Given the description of an element on the screen output the (x, y) to click on. 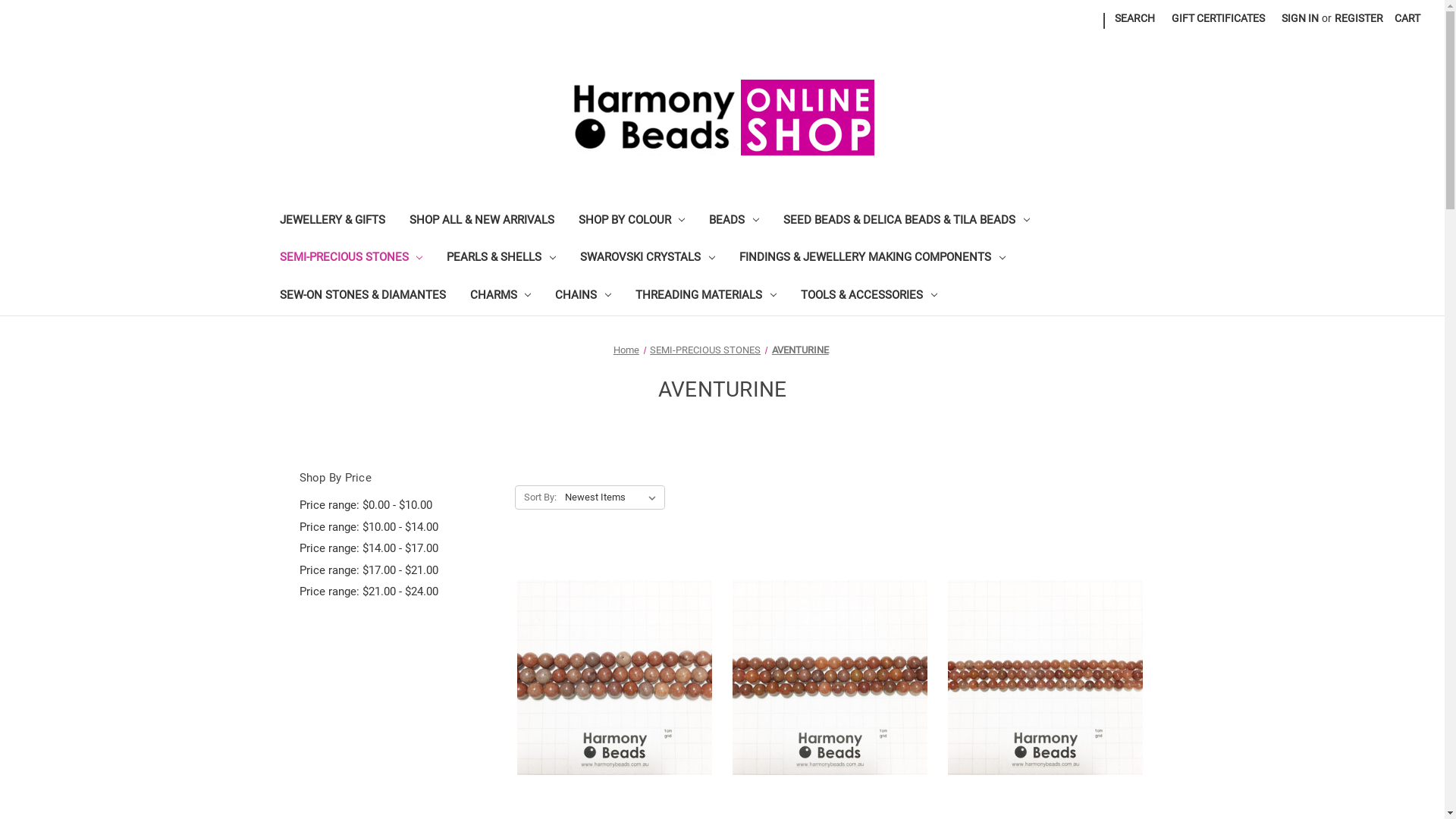
SEARCH Element type: text (1134, 18)
SEED BEADS & DELICA BEADS & TILA BEADS Element type: text (906, 221)
Price range: $14.00 - $17.00 Element type: text (398, 548)
FINDINGS & JEWELLERY MAKING COMPONENTS Element type: text (872, 258)
SHOP ALL & NEW ARRIVALS Element type: text (481, 221)
CHAINS Element type: text (582, 296)
AVENTURINE 8mm Smooth Round Purple Dyed Element type: hover (829, 677)
AVENTURINE Element type: text (799, 349)
SWAROVSKI CRYSTALS Element type: text (647, 258)
Price range: $17.00 - $21.00 Element type: text (398, 570)
SIGN IN Element type: text (1300, 18)
CHARMS Element type: text (500, 296)
SEMI-PRECIOUS STONES Element type: text (704, 349)
CART Element type: text (1407, 18)
SHOP BY COLOUR Element type: text (630, 221)
SEMI-PRECIOUS STONES Element type: text (350, 258)
AVENTURINE 10mm Smooth Round Purple Dyed Element type: hover (614, 677)
THREADING MATERIALS Element type: text (705, 296)
SEW-ON STONES & DIAMANTES Element type: text (361, 296)
Price range: $0.00 - $10.00 Element type: text (398, 505)
PEARLS & SHELLS Element type: text (500, 258)
JEWELLERY & GIFTS Element type: text (331, 221)
Price range: $10.00 - $14.00 Element type: text (398, 527)
TOOLS & ACCESSORIES Element type: text (868, 296)
REGISTER Element type: text (1358, 18)
GIFT CERTIFICATES Element type: text (1218, 18)
BEADS Element type: text (733, 221)
Price range: $21.00 - $24.00 Element type: text (398, 591)
Home Element type: text (626, 349)
AVENTURINE 6mm Smooth Round Purple Dyed Element type: hover (1044, 677)
